Given the description of an element on the screen output the (x, y) to click on. 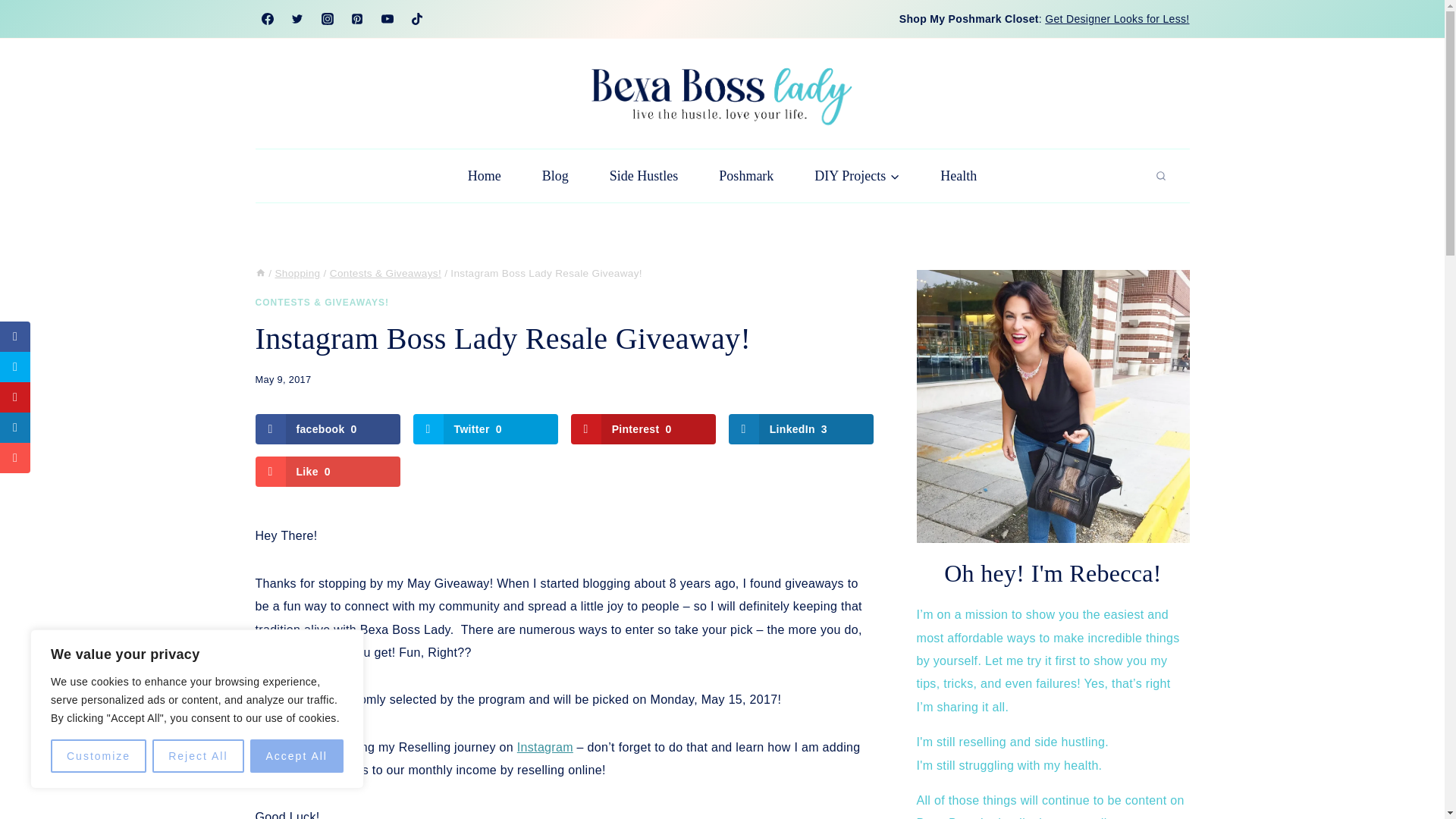
DIY Projects (856, 175)
Reject All (197, 756)
Home (483, 175)
Poshmark (745, 175)
Customize (98, 756)
Health (958, 175)
Blog (555, 175)
Accept All (296, 756)
Get Designer Looks for Less! (1117, 19)
Side Hustles (643, 175)
